Given the description of an element on the screen output the (x, y) to click on. 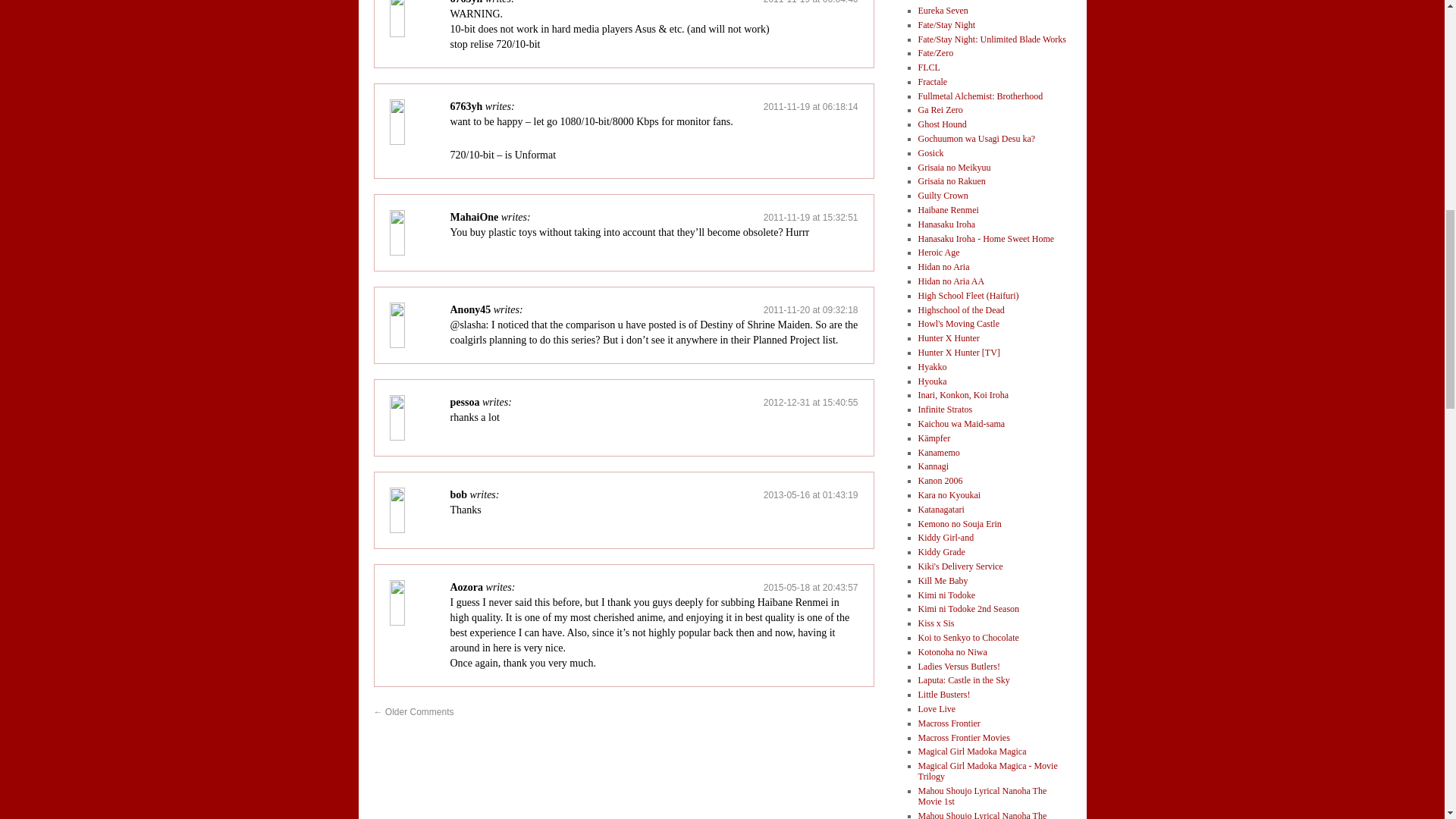
2011-11-20 at 09:32:18 (810, 309)
2011-11-19 at 15:32:51 (810, 217)
2015-05-18 at 20:43:57 (810, 587)
2011-11-19 at 06:18:14 (810, 106)
2012-12-31 at 15:40:55 (810, 402)
2011-11-19 at 06:04:46 (810, 2)
2013-05-16 at 01:43:19 (810, 494)
